Given the description of an element on the screen output the (x, y) to click on. 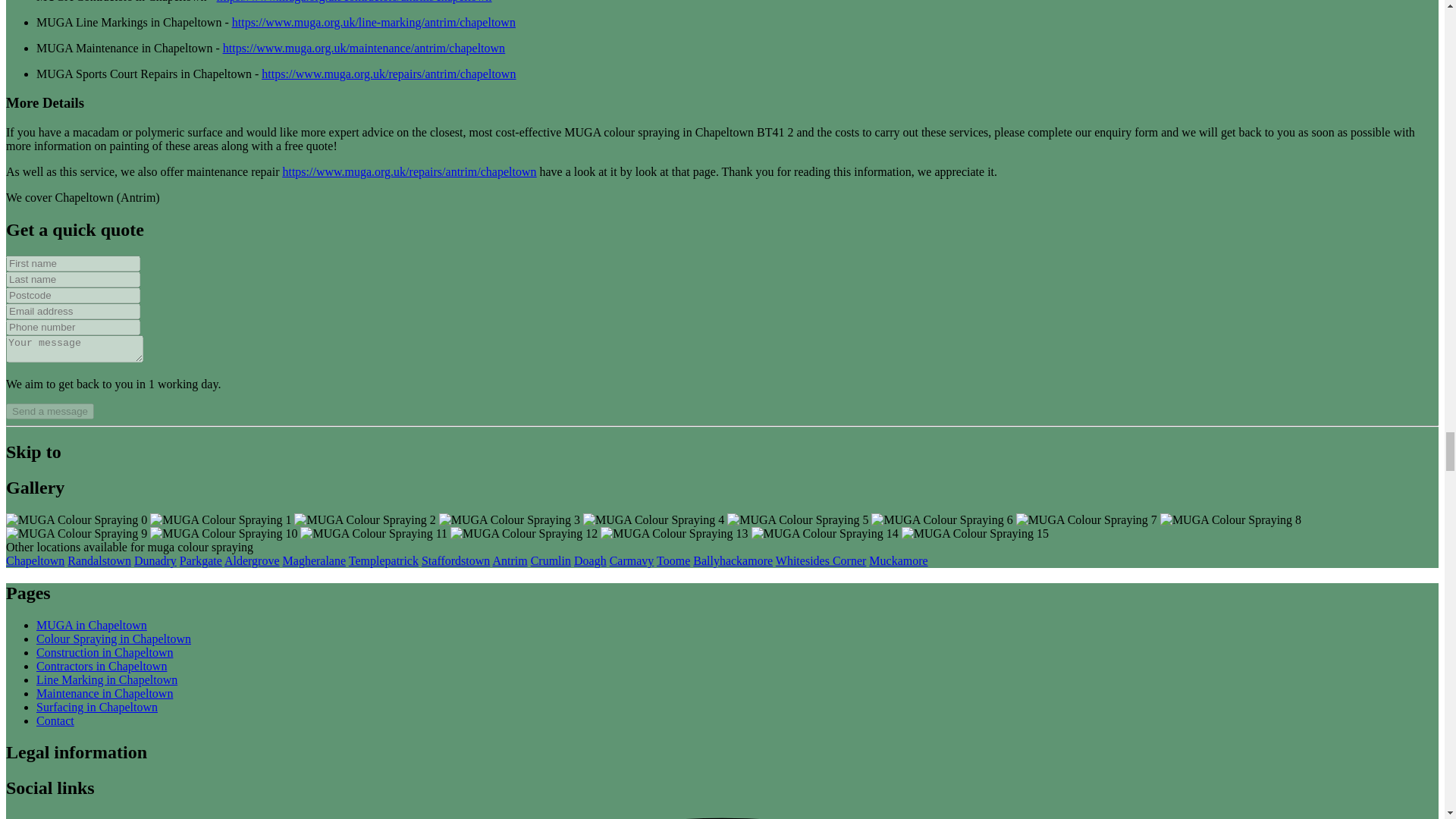
Send a message (49, 411)
Chapeltown (34, 560)
